Given the description of an element on the screen output the (x, y) to click on. 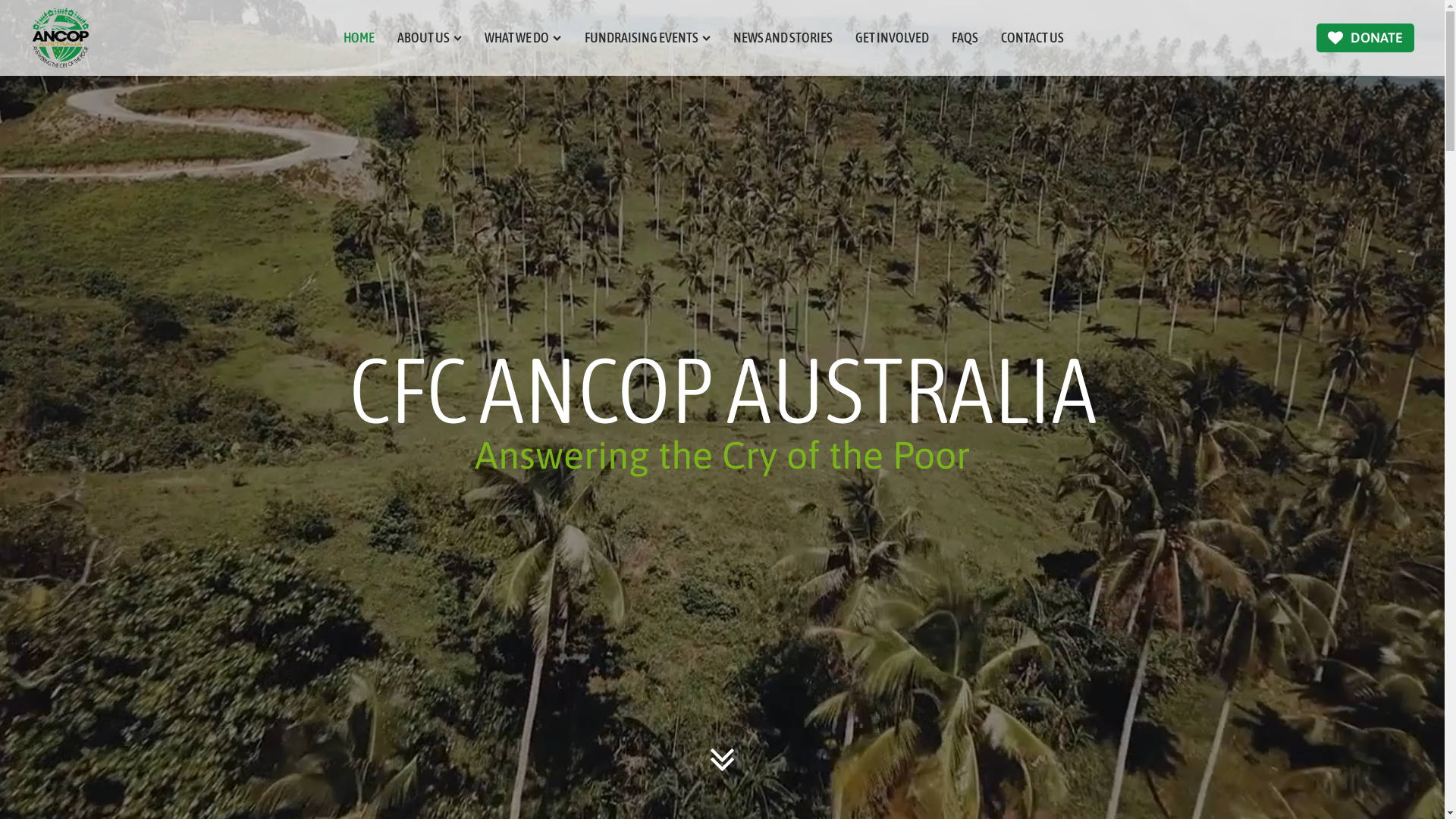
FUNDRAISING EVENTS Element type: text (647, 38)
GET INVOLVED Element type: text (891, 38)
HOME Element type: text (358, 38)
ABOUT US Element type: text (429, 38)
CONTACT US Element type: text (1032, 38)
DONATE Element type: text (1365, 38)
NEWS AND STORIES Element type: text (782, 38)
FAQS Element type: text (964, 38)
WHAT WE DO Element type: text (522, 38)
